Given the description of an element on the screen output the (x, y) to click on. 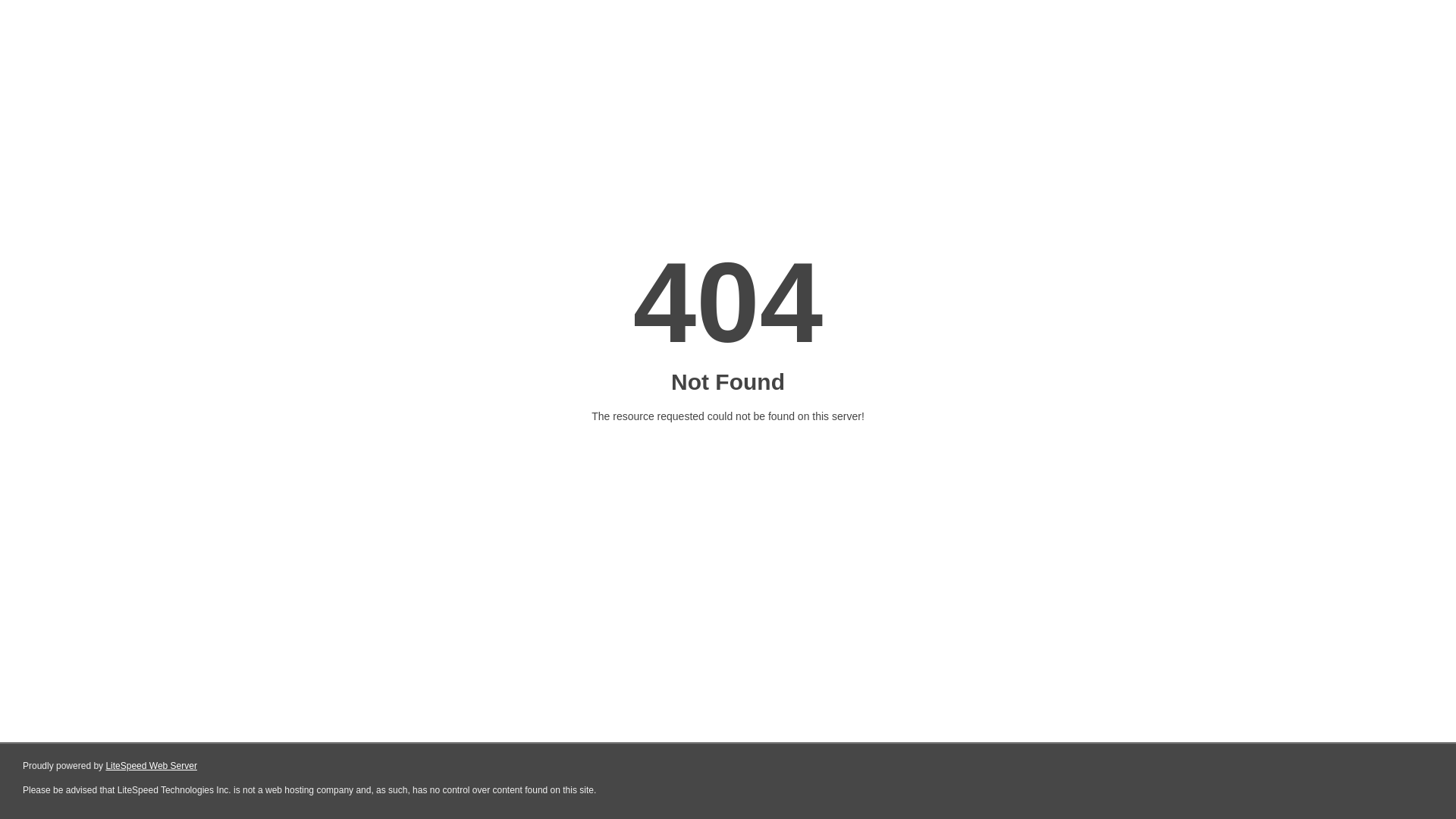
LiteSpeed Web Server Element type: text (151, 765)
